Given the description of an element on the screen output the (x, y) to click on. 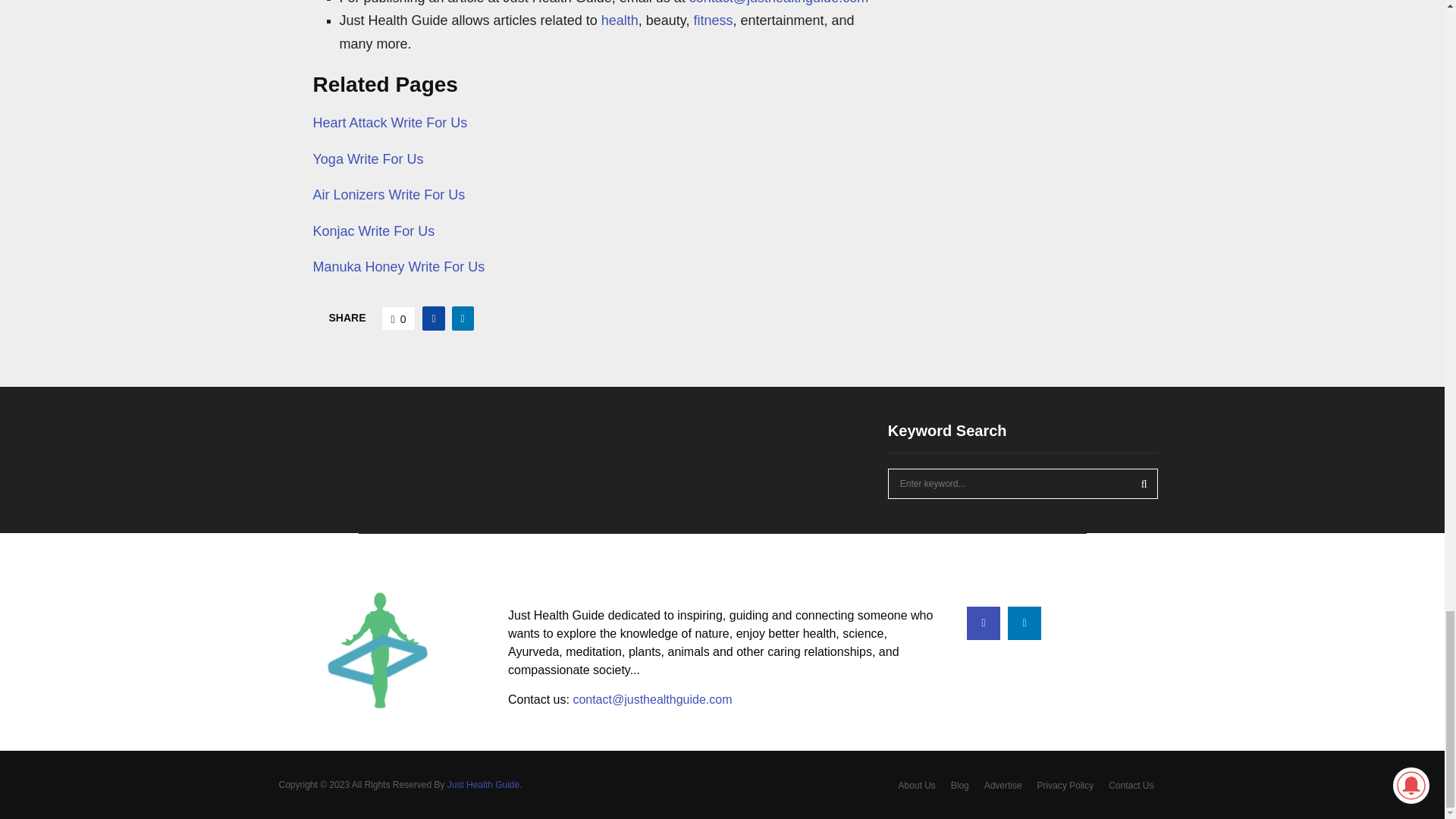
0 (398, 318)
Heart Attack Write For Us (390, 122)
Konjac Write For Us (373, 231)
Facebook (983, 622)
Yoga Write For Us (368, 159)
Air Lonizers Write For Us (388, 194)
health (620, 20)
fitness (712, 20)
Like (398, 318)
Linkedin (1024, 622)
SEARCH (1143, 483)
Manuka Honey Write For Us (398, 266)
